Given the description of an element on the screen output the (x, y) to click on. 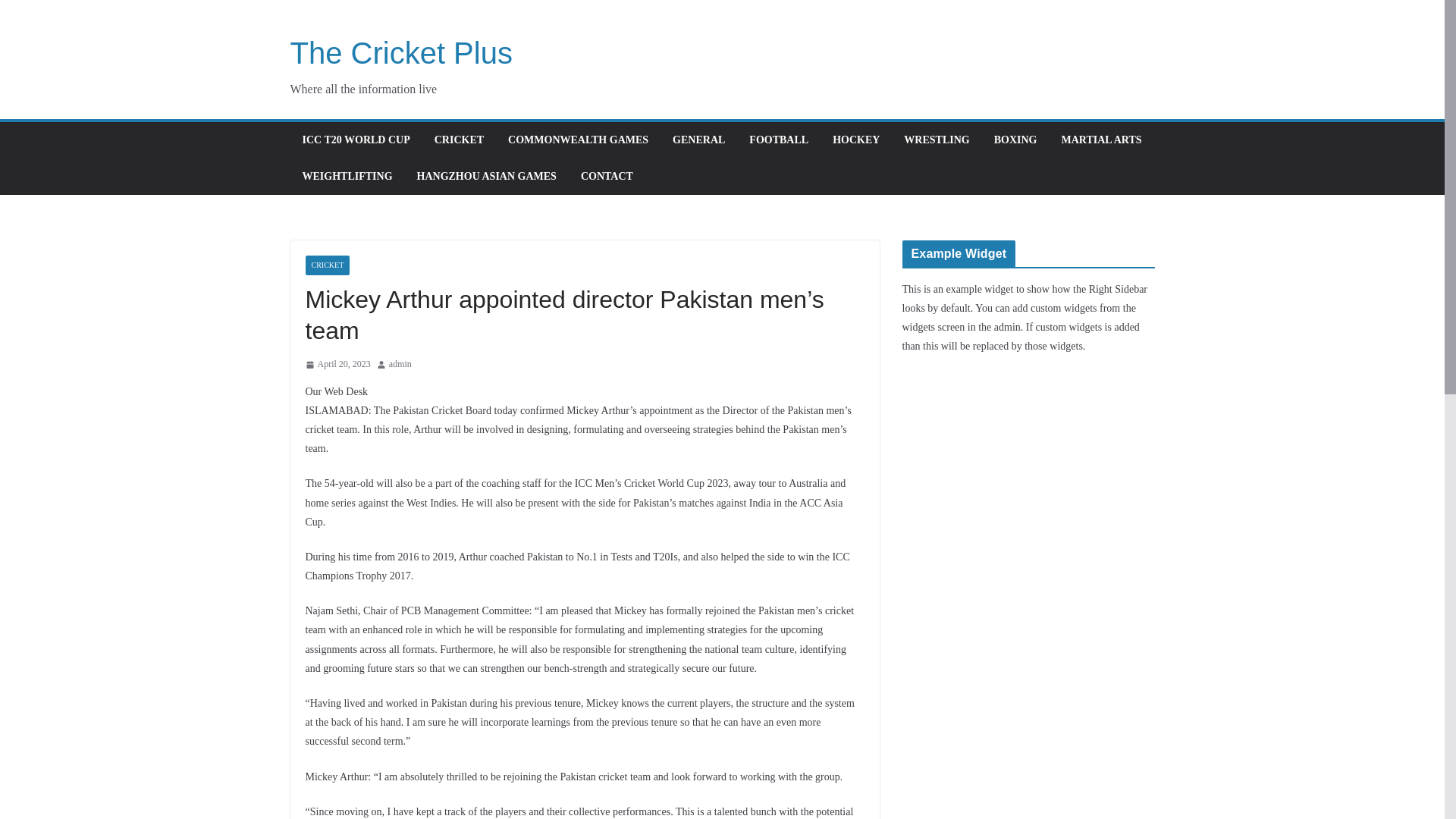
HANGZHOU ASIAN GAMES (486, 176)
ICC T20 WORLD CUP (355, 139)
FOOTBALL (778, 139)
HOCKEY (855, 139)
admin (400, 364)
April 20, 2023 (336, 364)
CRICKET (326, 265)
MARTIAL ARTS (1101, 139)
CONTACT (606, 176)
WRESTLING (936, 139)
GENERAL (698, 139)
The Cricket Plus (400, 52)
admin (400, 364)
2:53 pm (336, 364)
BOXING (1015, 139)
